Given the description of an element on the screen output the (x, y) to click on. 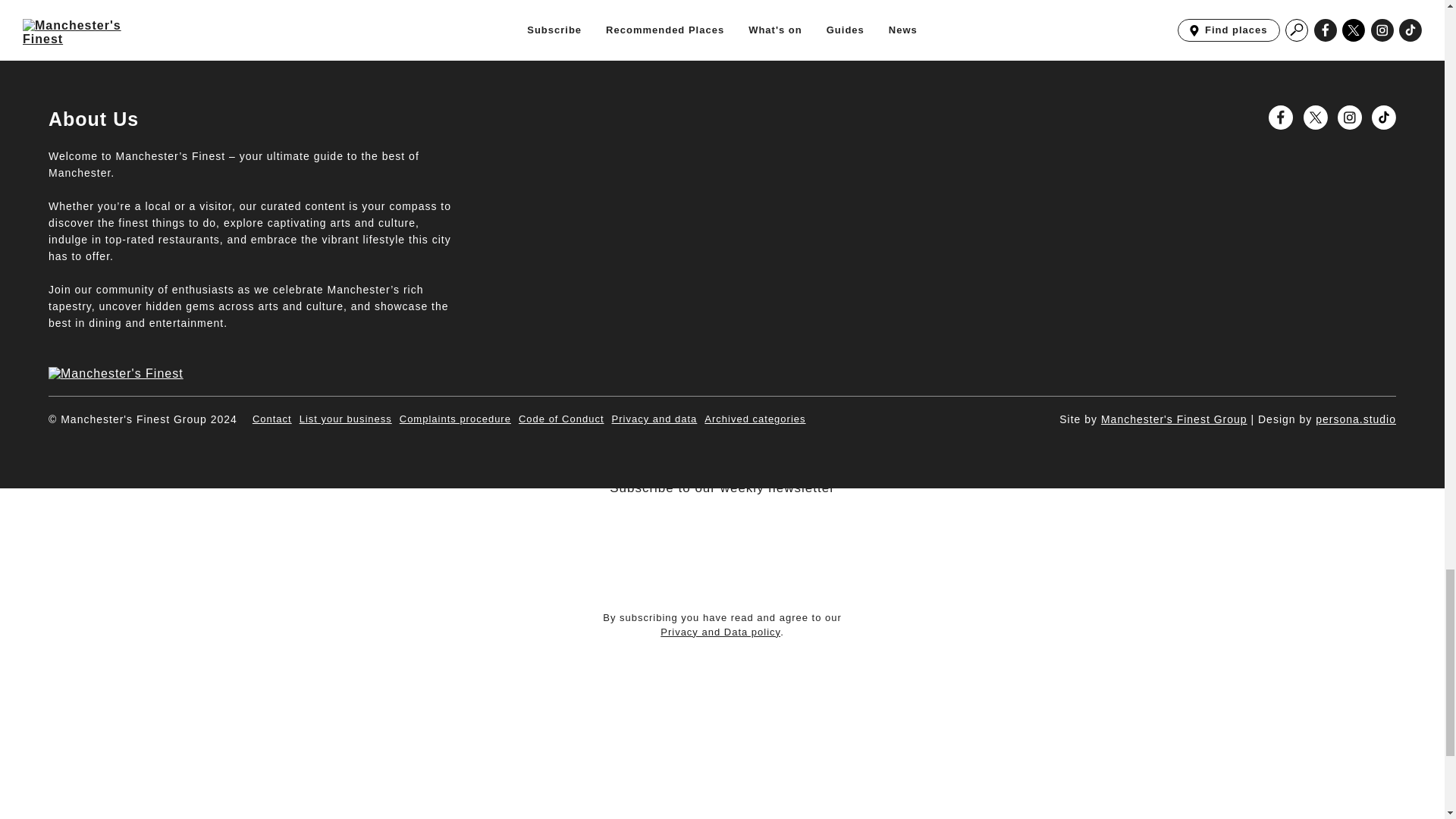
Go to Manchester's Finest Facebook page (1280, 117)
Go to Manchester's Finest X profile (1315, 117)
Go to Manchester's Finest TikTok profile (1383, 117)
Go to Manchester's Finest Instagram profile (1349, 117)
